Given the description of an element on the screen output the (x, y) to click on. 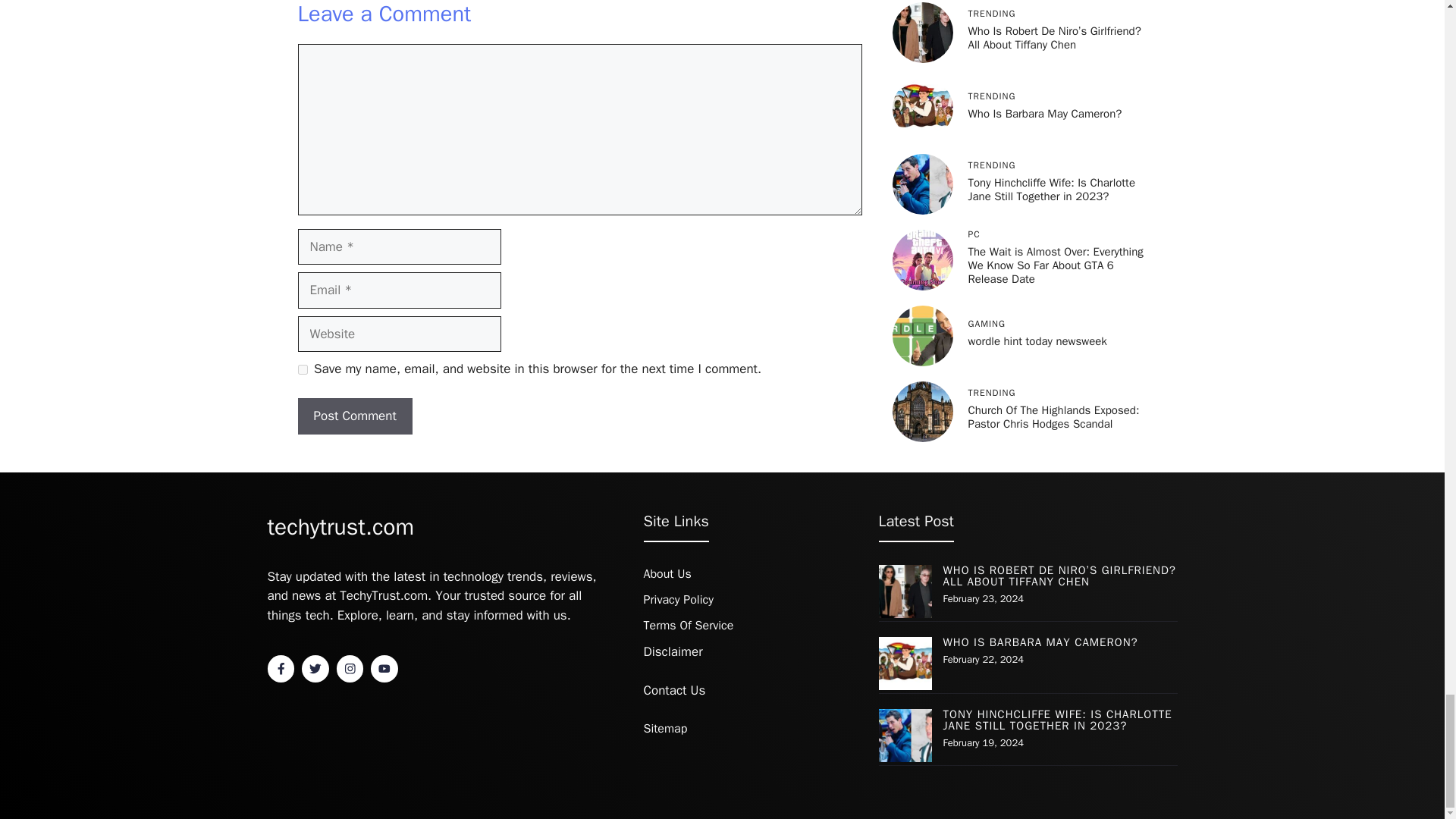
Post Comment (354, 416)
yes (302, 369)
